Given the description of an element on the screen output the (x, y) to click on. 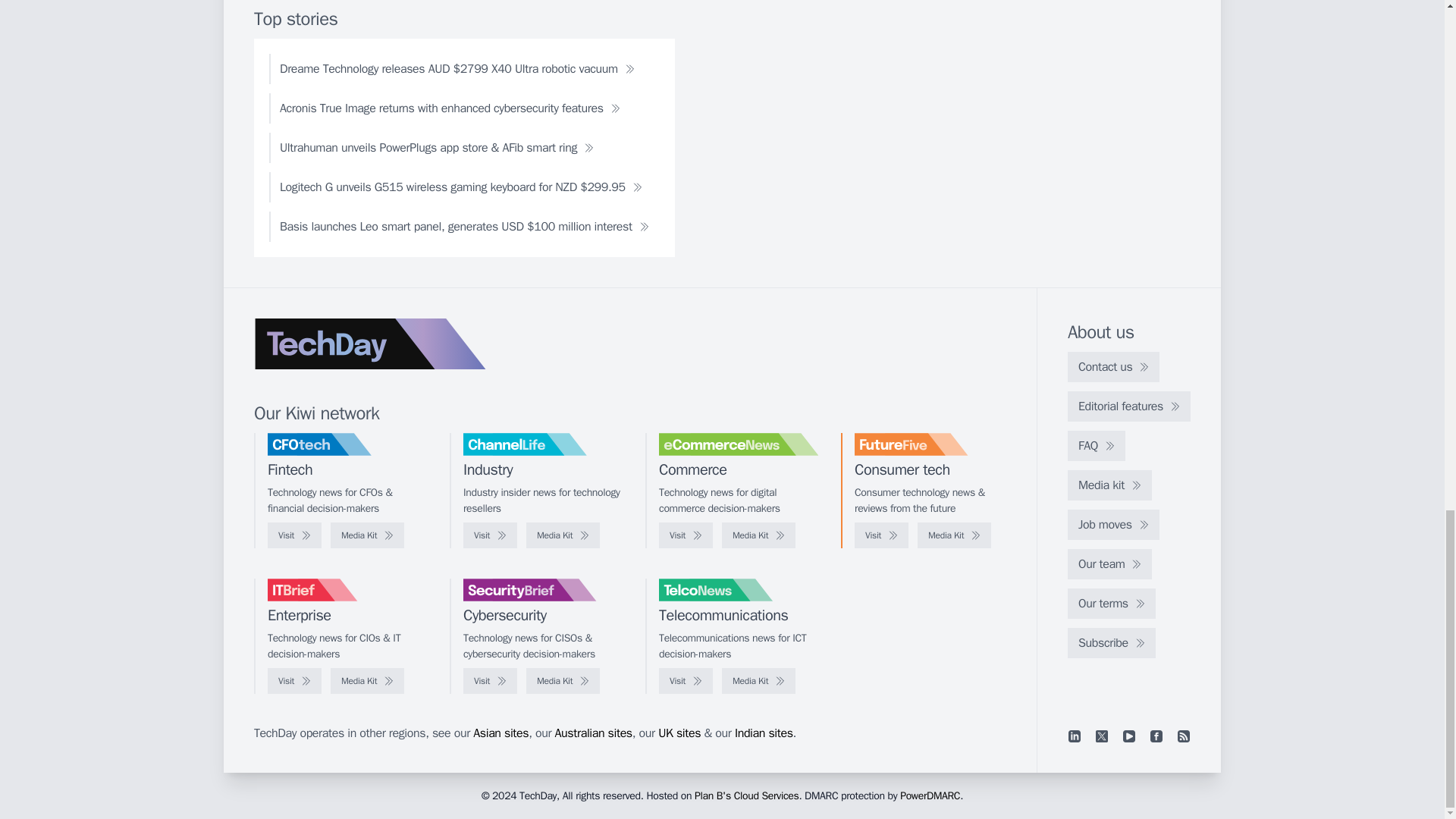
Visit (881, 534)
Media Kit (758, 534)
Visit (489, 534)
Visit (686, 534)
Media Kit (954, 534)
Visit (294, 534)
Media Kit (562, 534)
Media Kit (367, 534)
